Given the description of an element on the screen output the (x, y) to click on. 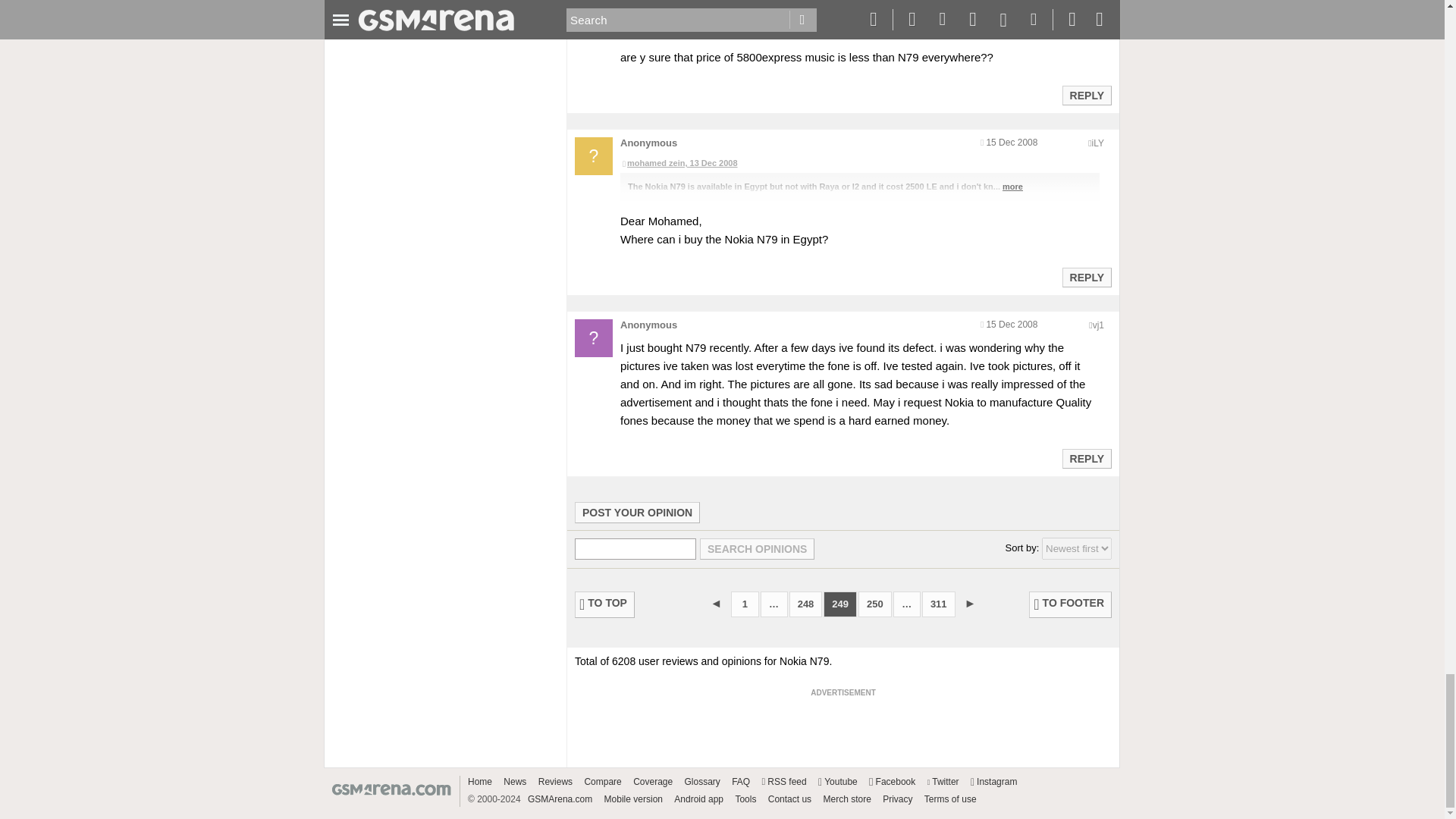
Search opinions (756, 548)
TO TOP (604, 604)
